Given the description of an element on the screen output the (x, y) to click on. 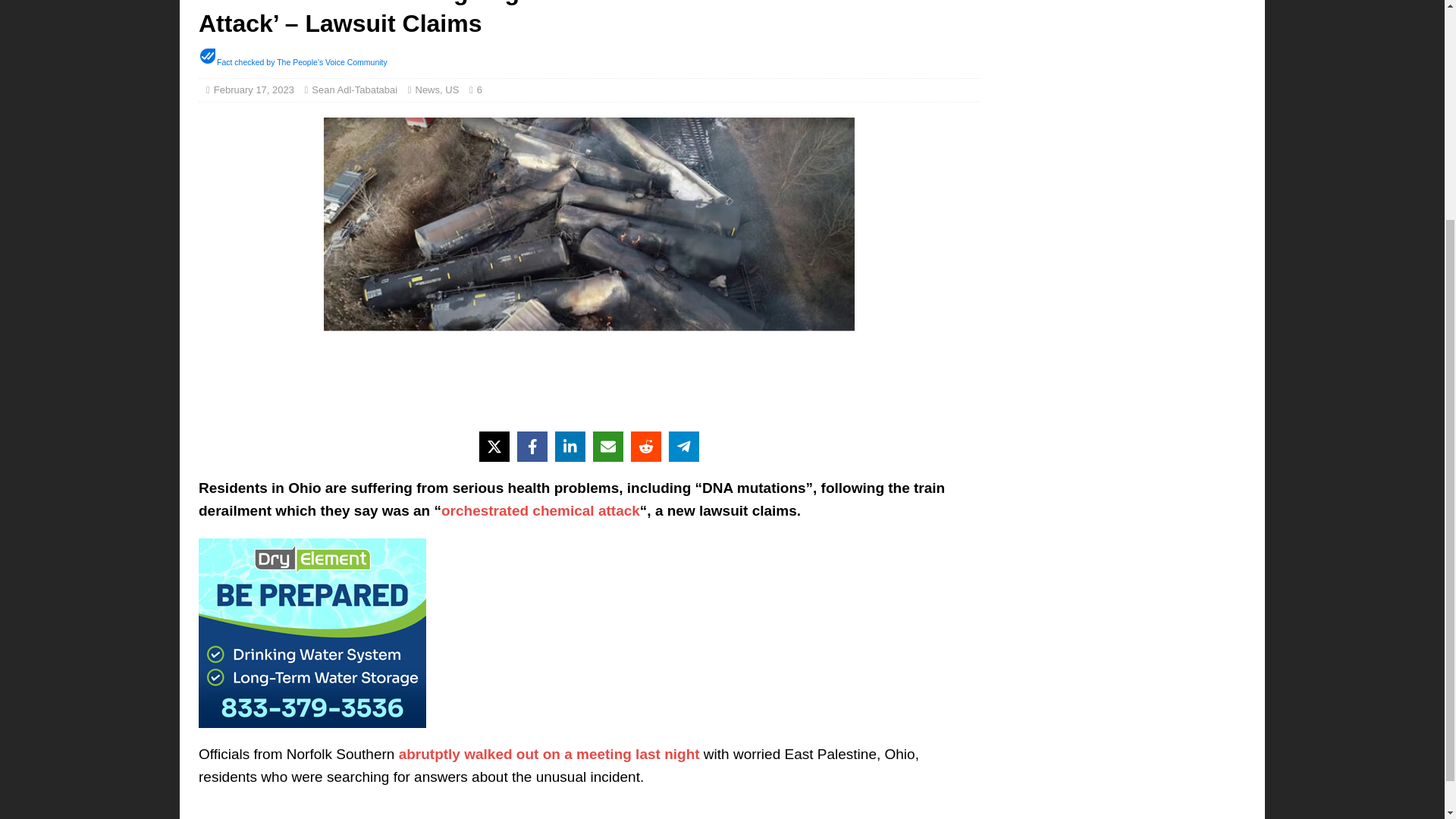
Sean Adl-Tabatabai (354, 89)
News (427, 89)
US (451, 89)
February 17, 2023 (254, 89)
6 (483, 89)
Fact checked by The People's Voice Community (301, 61)
